Given the description of an element on the screen output the (x, y) to click on. 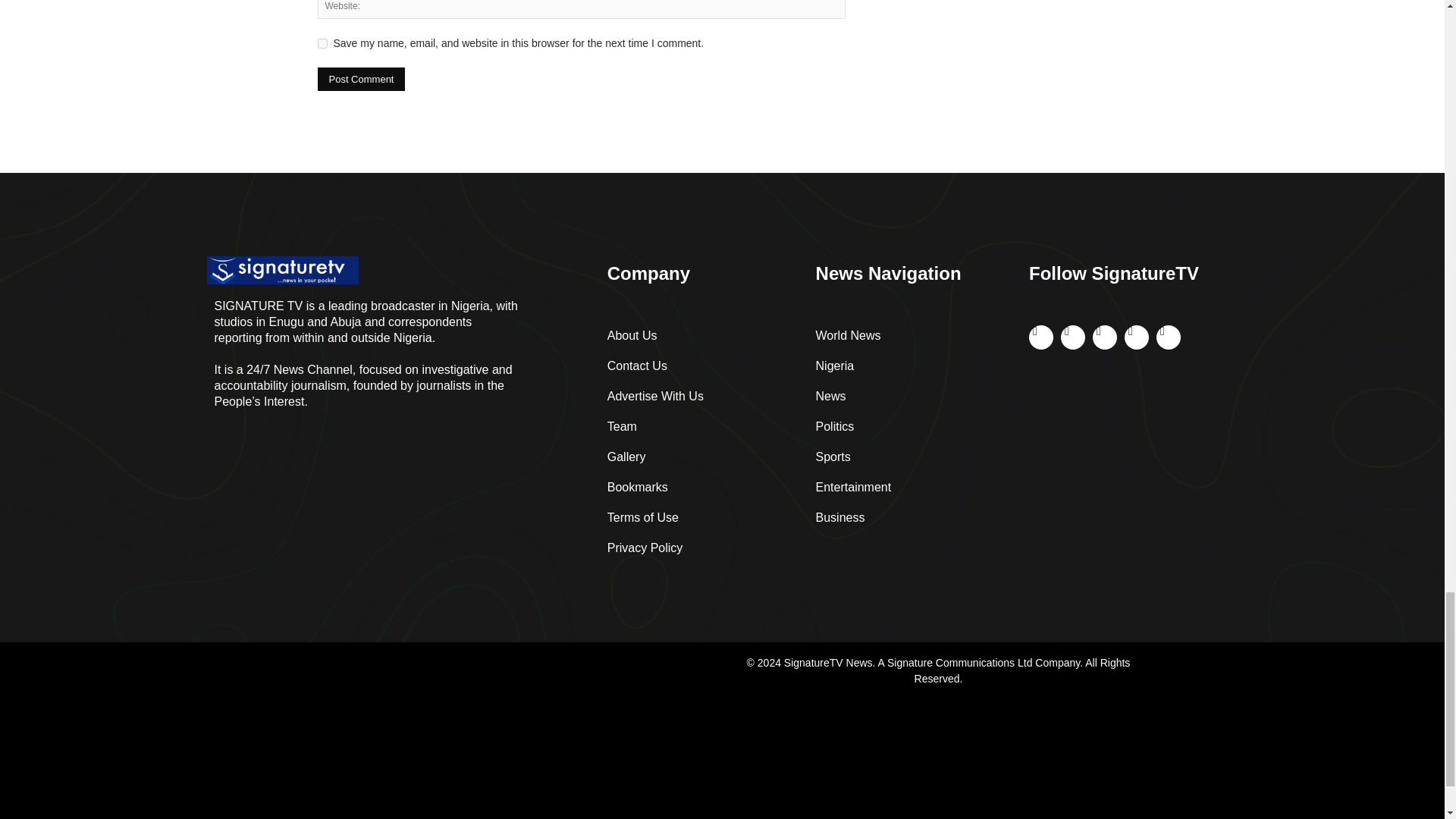
yes (321, 43)
Post Comment (360, 78)
